Given the description of an element on the screen output the (x, y) to click on. 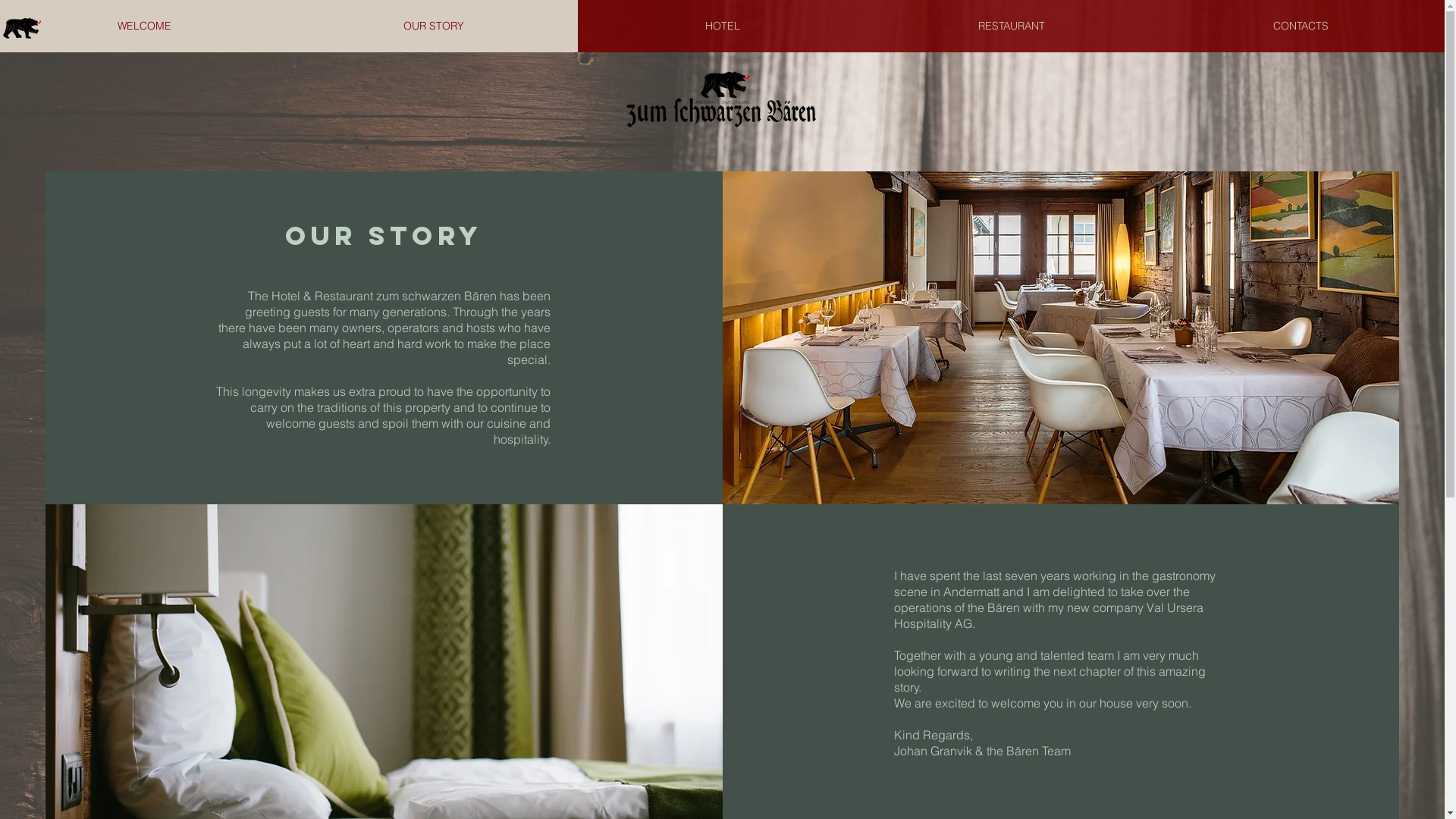
OUR STORY Element type: text (432, 26)
HOTEL Element type: text (721, 26)
WELCOME Element type: text (144, 26)
